Given the description of an element on the screen output the (x, y) to click on. 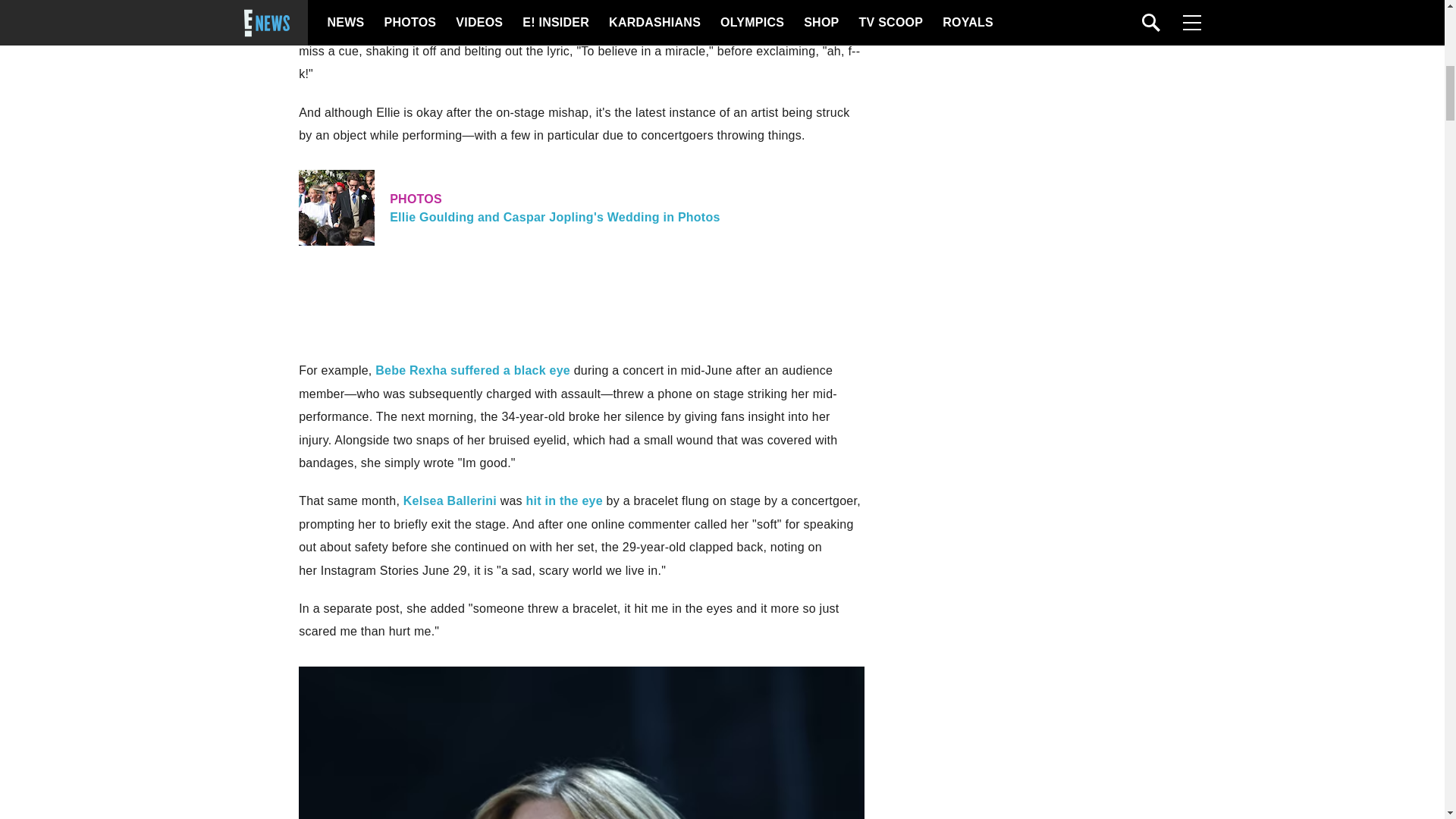
hit in the eye (563, 500)
Bebe Rexha (410, 369)
suffered a black eye (509, 369)
Kelsea Ballerini (449, 500)
posted to social media (413, 5)
